Given the description of an element on the screen output the (x, y) to click on. 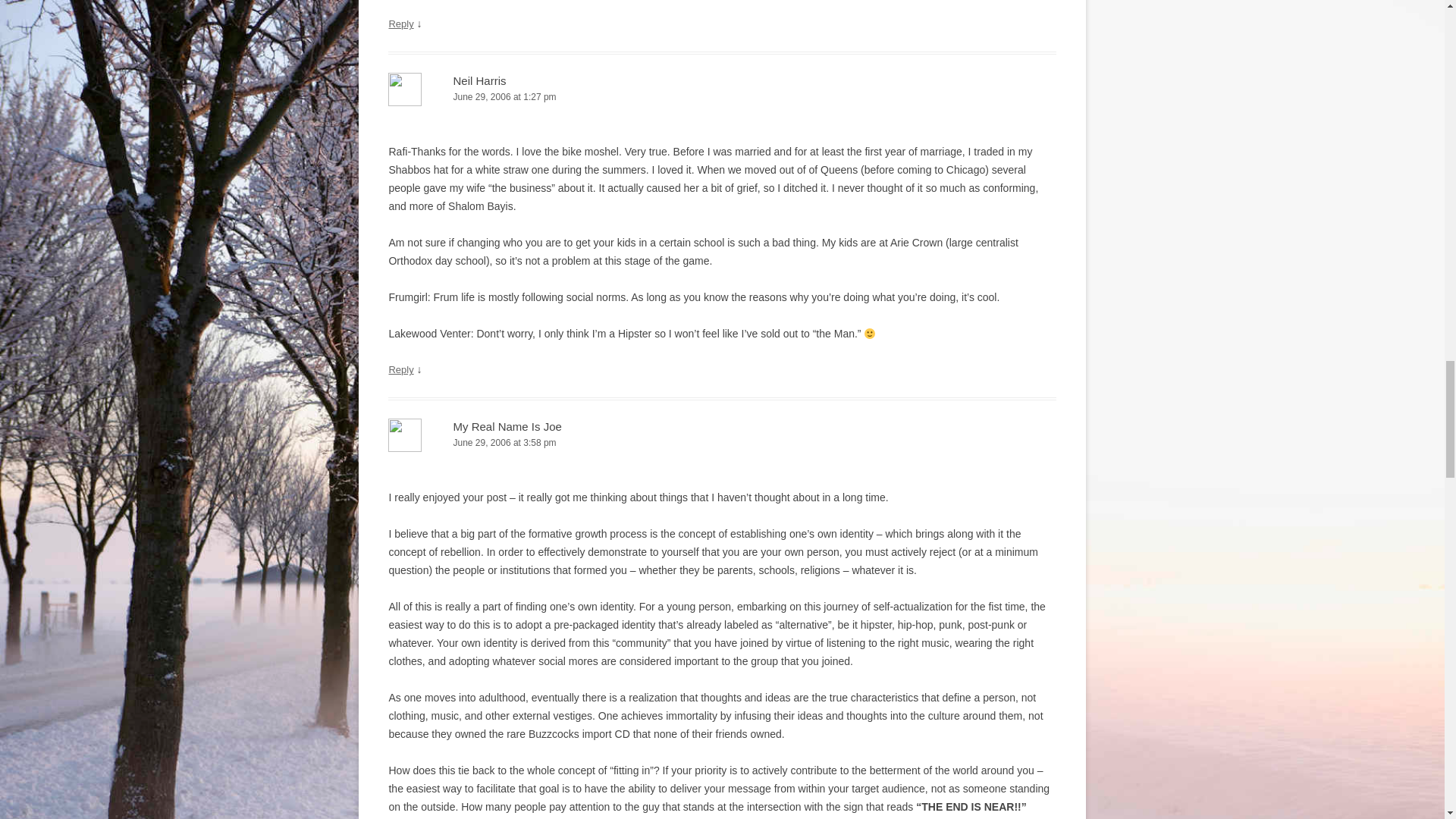
Reply (400, 23)
June 29, 2006 at 1:27 pm (721, 97)
Reply (400, 369)
Neil Harris (478, 80)
June 29, 2006 at 3:58 pm (721, 442)
